Given the description of an element on the screen output the (x, y) to click on. 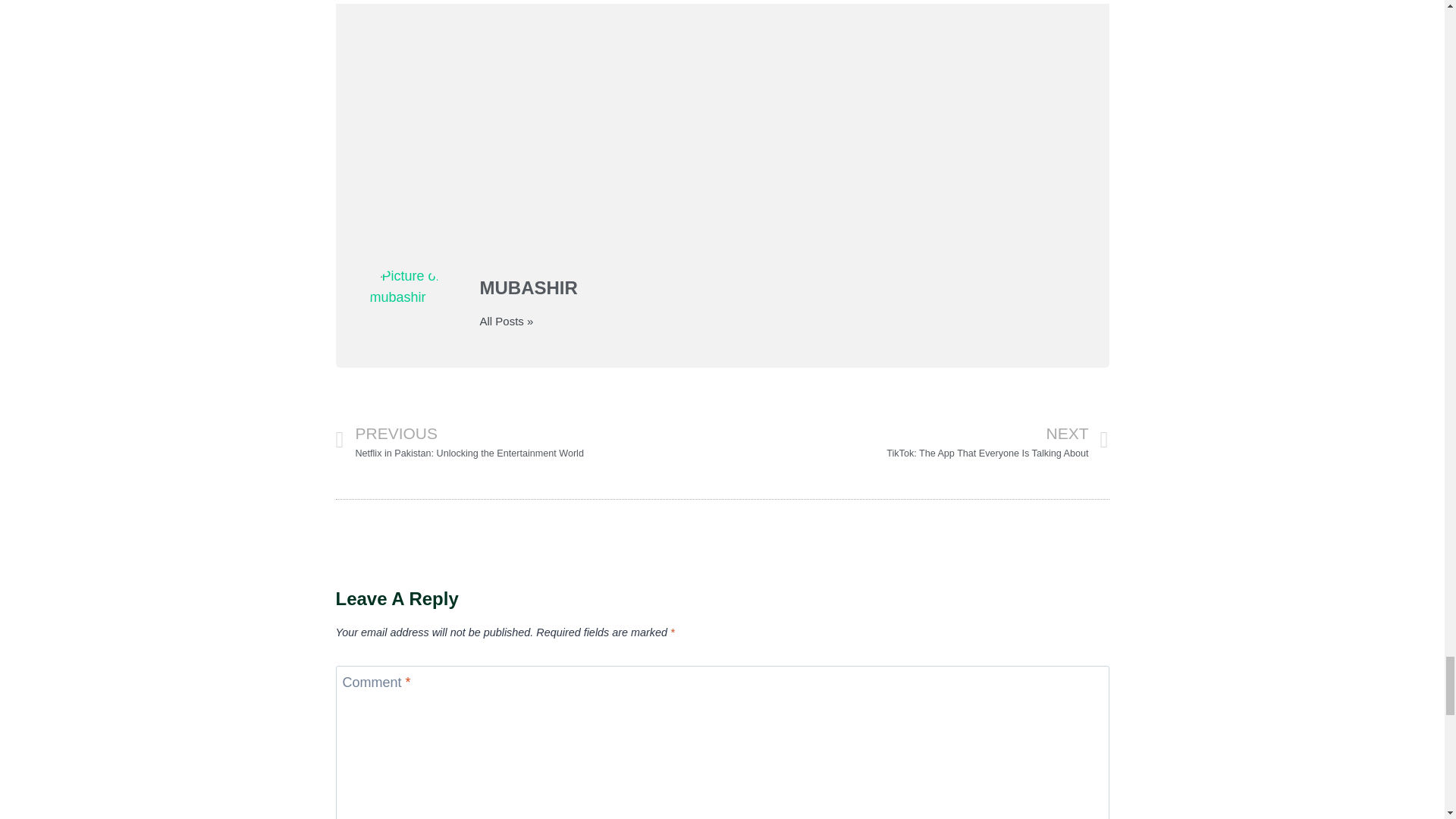
MUBASHIR (776, 288)
